Given the description of an element on the screen output the (x, y) to click on. 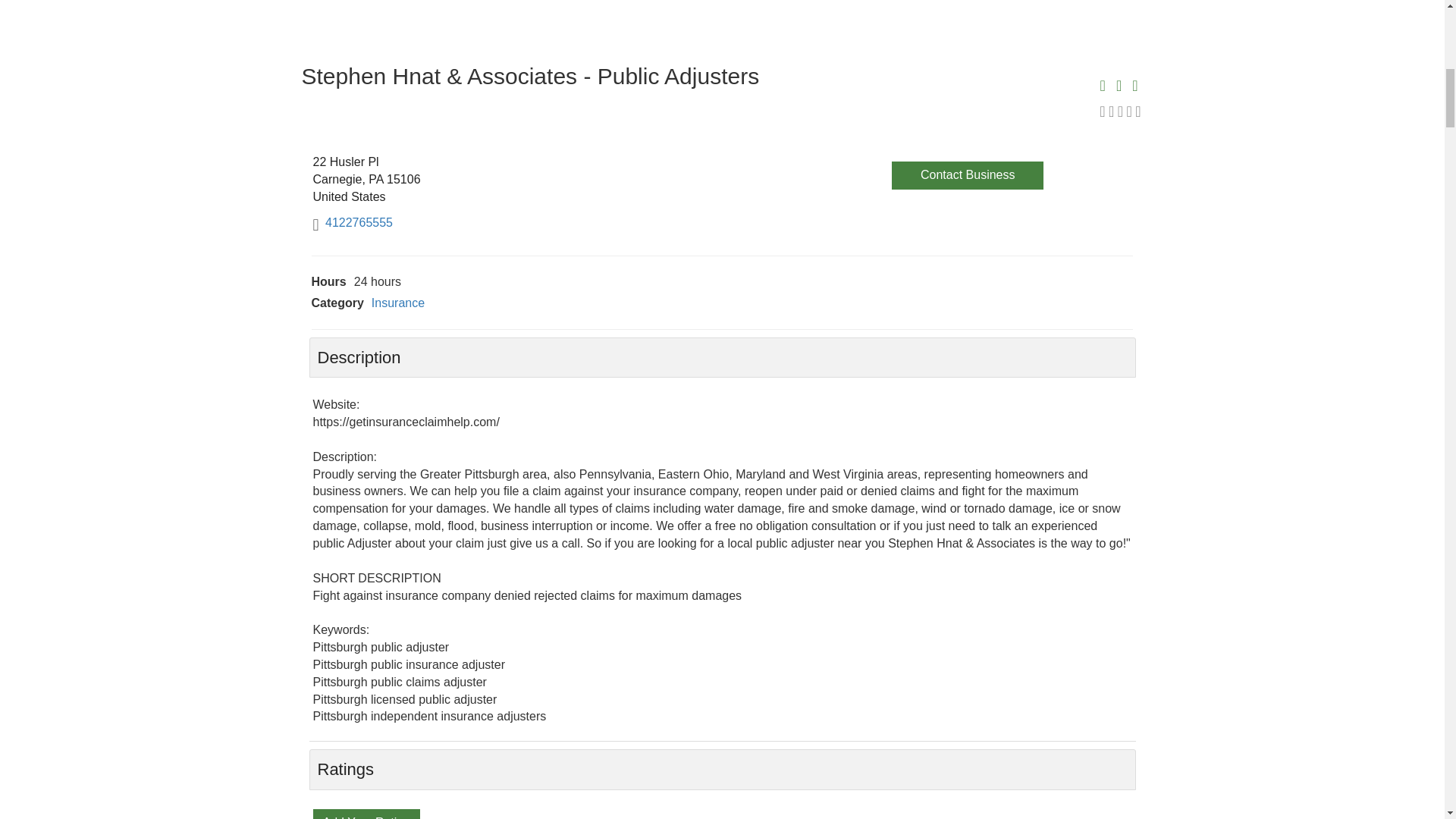
Click to Rate (366, 816)
